Given the description of an element on the screen output the (x, y) to click on. 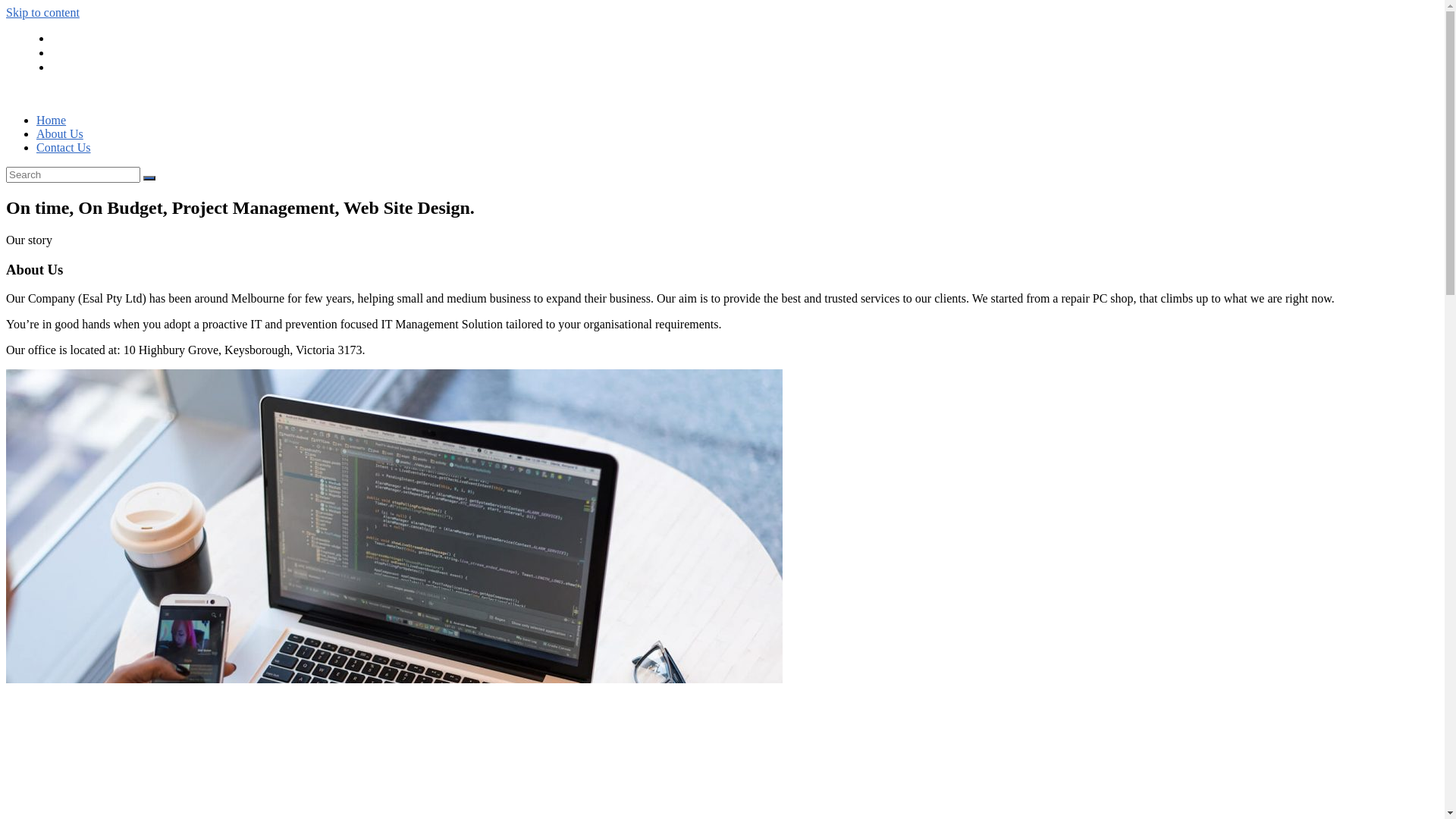
Contact Us Element type: text (106, 68)
About Us Element type: text (98, 53)
Menu Close Element type: text (60, 94)
Skip to content Element type: text (42, 12)
Contact Us Element type: text (63, 147)
Home Element type: text (50, 119)
About Us Element type: text (59, 133)
Home Element type: text (82, 39)
